Given the description of an element on the screen output the (x, y) to click on. 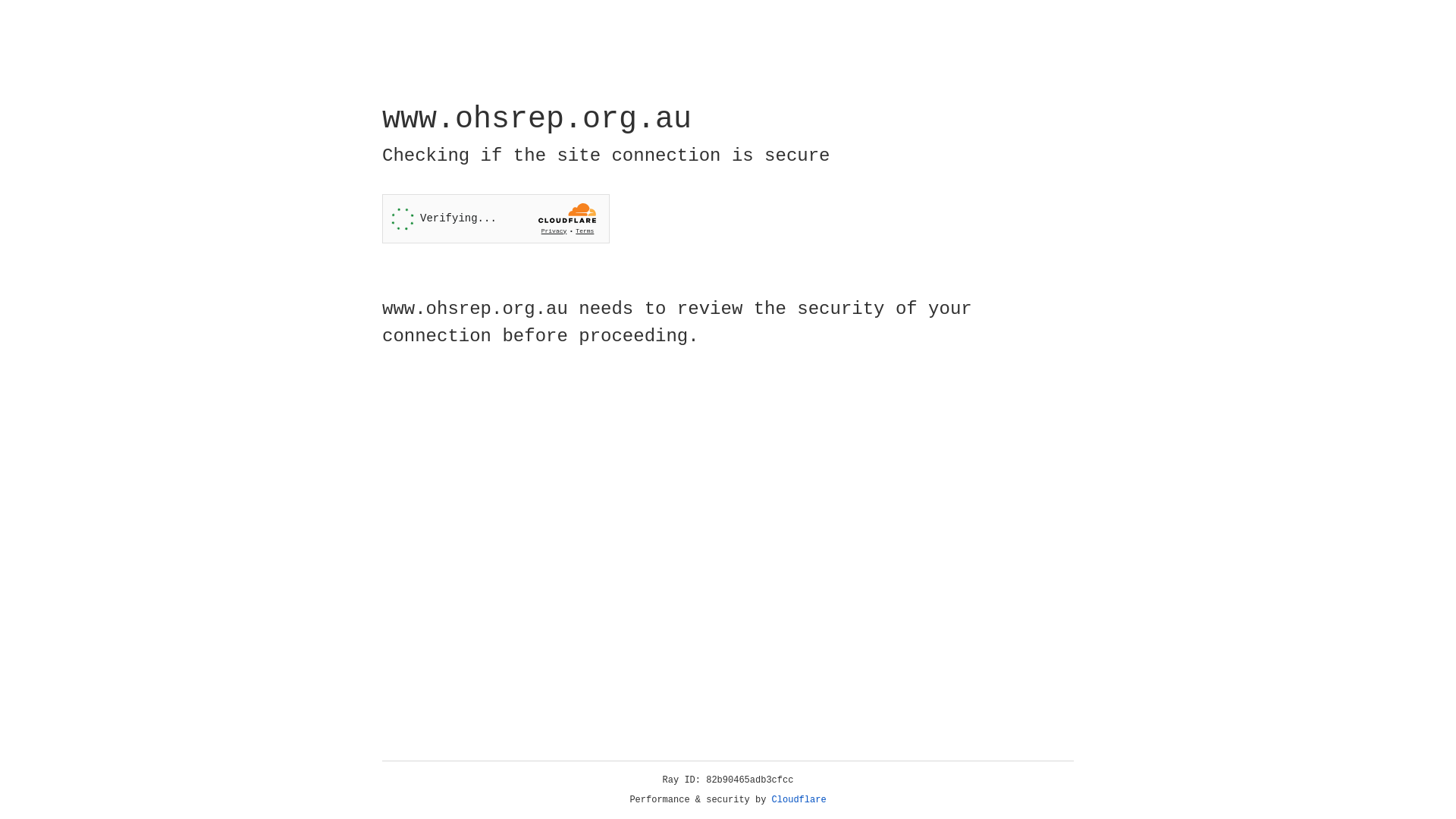
Cloudflare Element type: text (798, 799)
Widget containing a Cloudflare security challenge Element type: hover (495, 218)
